Given the description of an element on the screen output the (x, y) to click on. 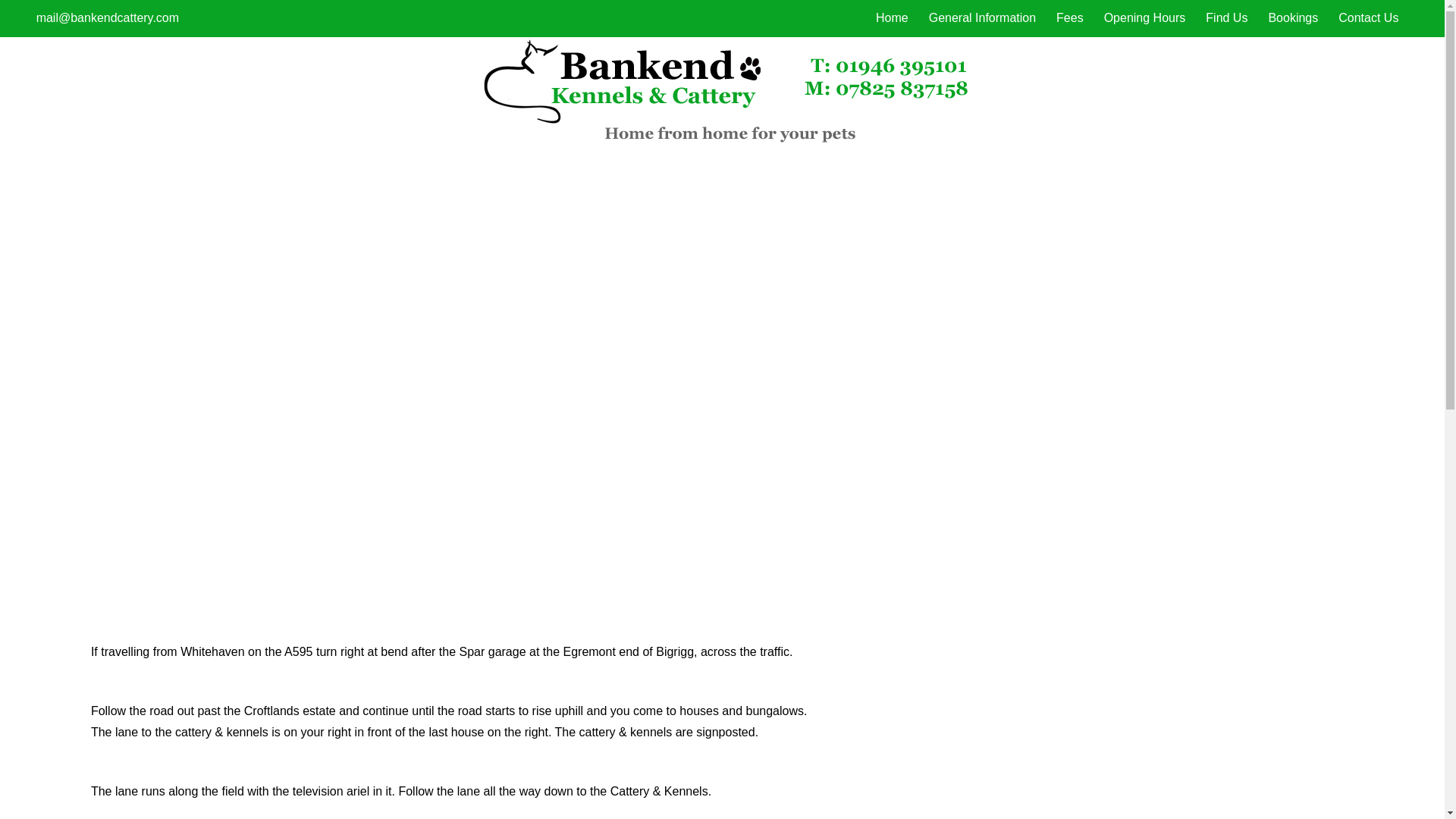
Bookings (1292, 18)
Home (892, 18)
General Information (981, 18)
Contact Us (1367, 18)
Opening Hours (1144, 18)
Find Us (1226, 18)
Fees (1069, 18)
